Given the description of an element on the screen output the (x, y) to click on. 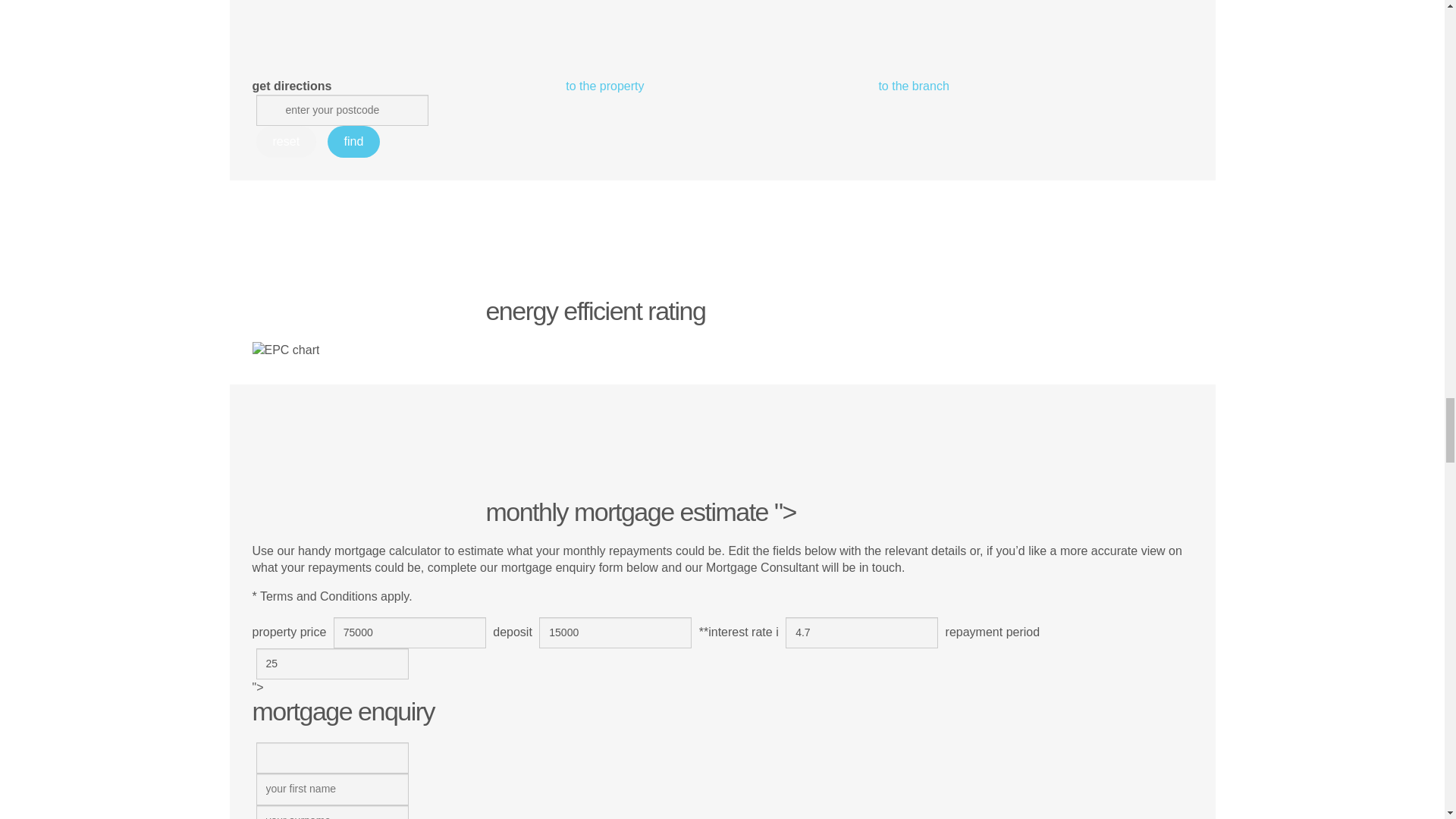
4.7 (861, 632)
15000 (614, 632)
25 (332, 663)
75000 (409, 632)
